Given the description of an element on the screen output the (x, y) to click on. 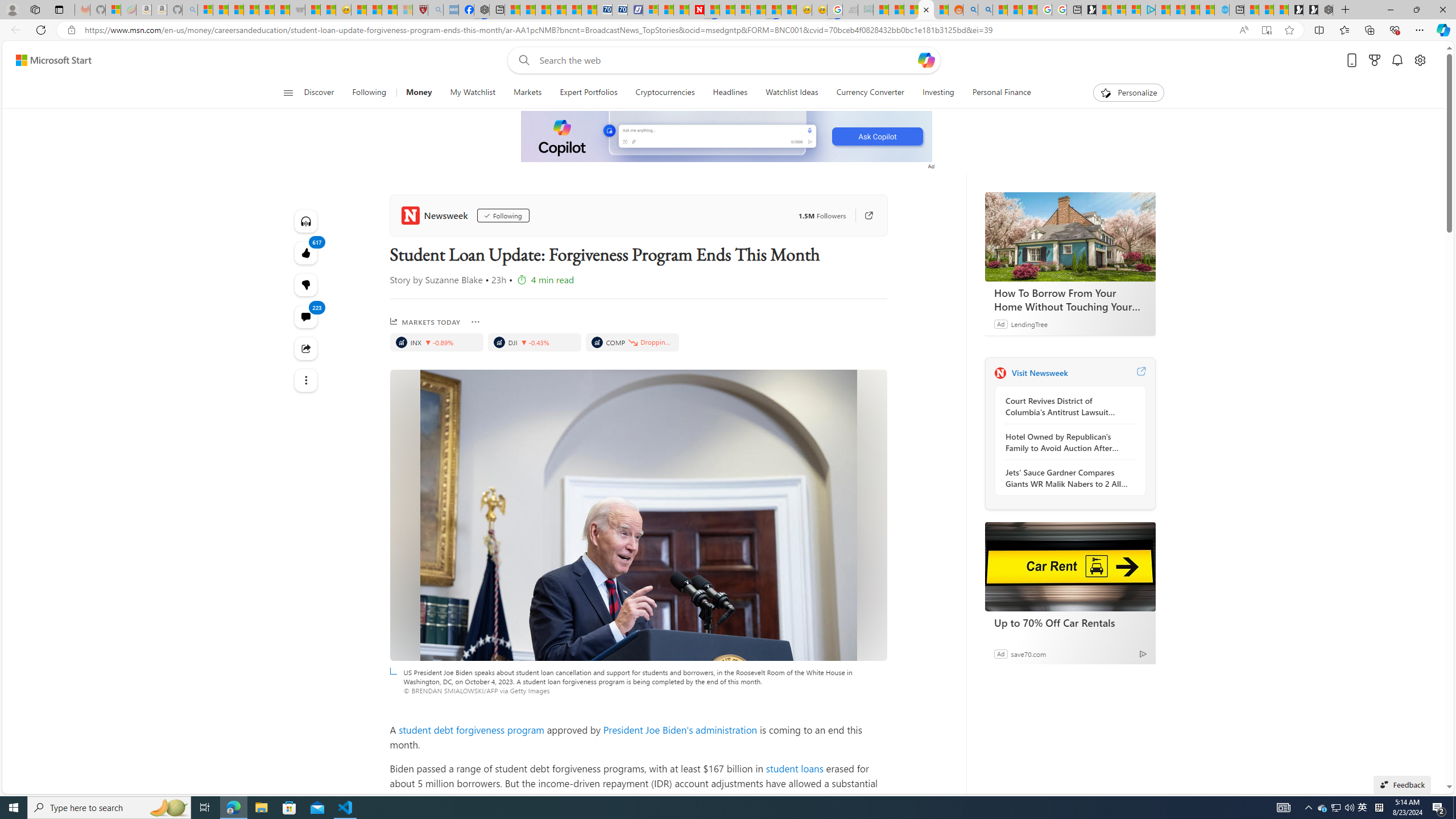
More Options (475, 321)
INX, S&P 500. Price is 5,570.64. Decreased by -0.89% (436, 342)
617 (305, 284)
12 Popular Science Lies that Must be Corrected - Sleeping (405, 9)
